Given the description of an element on the screen output the (x, y) to click on. 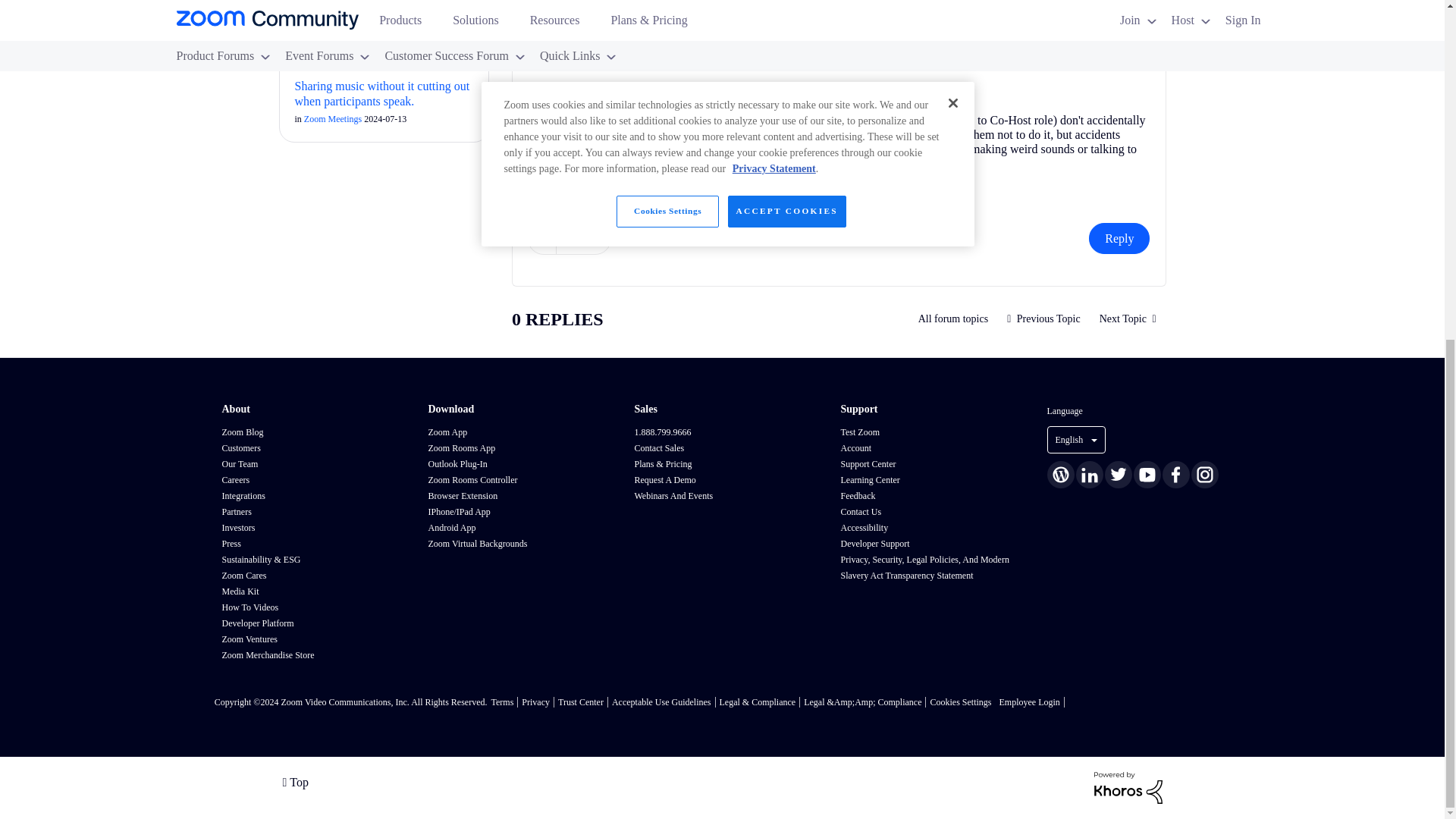
How to Hide Co-Host and Panelist's Profile Boxes? (1127, 318)
Top (294, 781)
Zoom Events and Webinars (953, 318)
The total number of likes this post has received. (583, 237)
Top (294, 781)
Click here to give likes to this post. (542, 238)
